Given the description of an element on the screen output the (x, y) to click on. 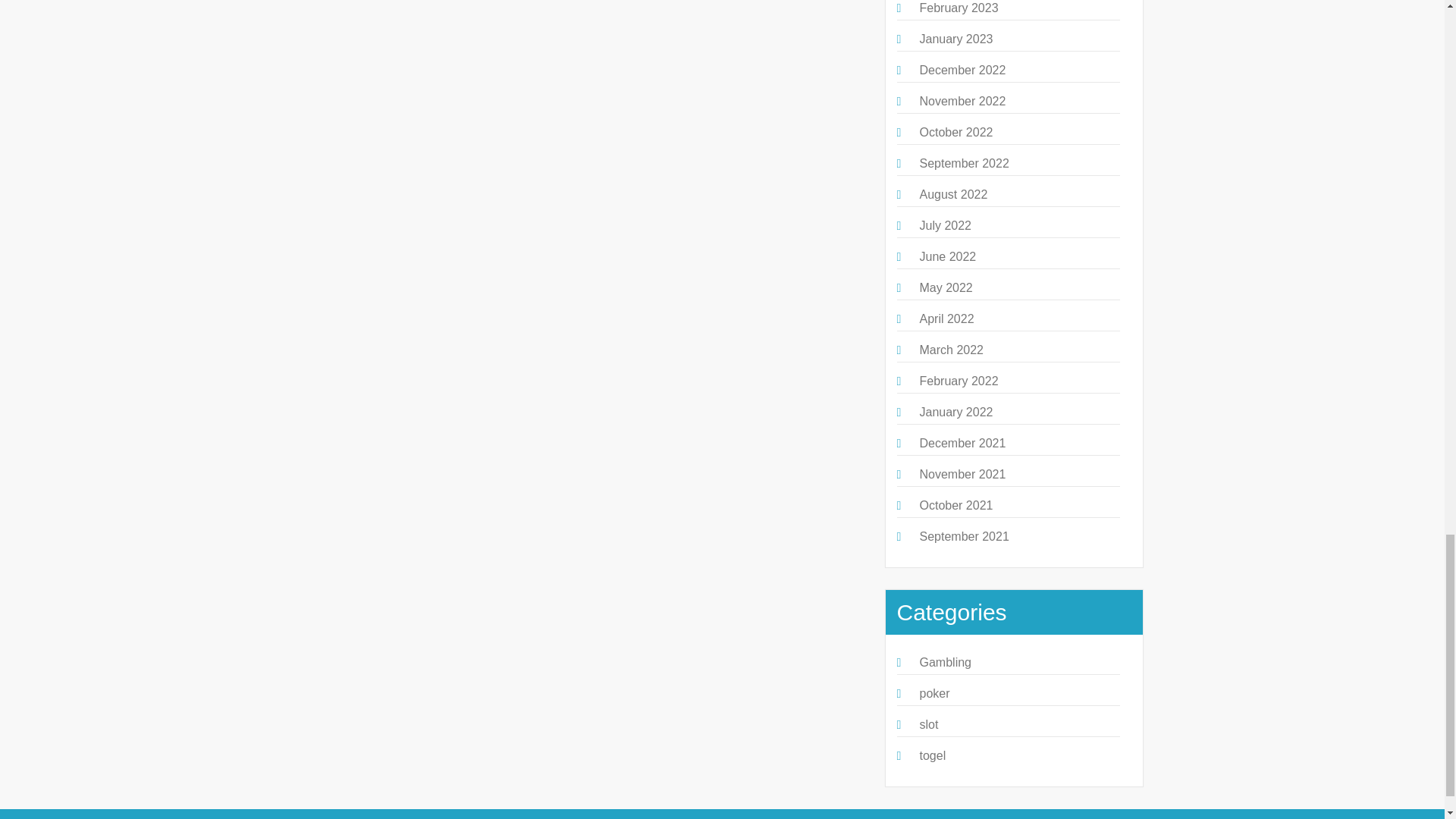
December 2022 (962, 69)
January 2023 (955, 38)
November 2022 (962, 101)
February 2023 (957, 7)
September 2022 (963, 163)
October 2022 (955, 132)
